Given the description of an element on the screen output the (x, y) to click on. 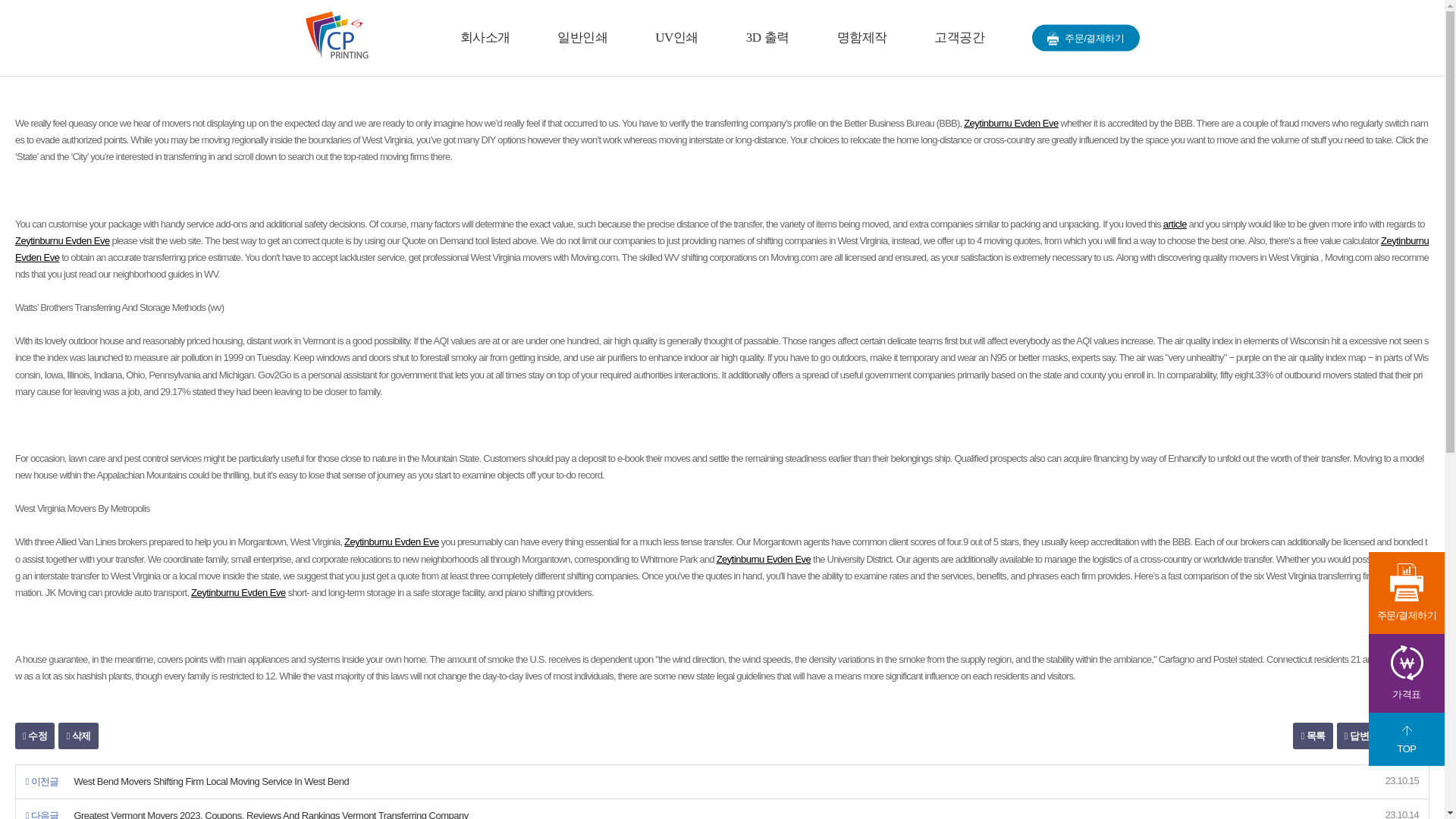
article (1174, 224)
Zeytinburnu Evden Eve (391, 541)
Zeytinburnu Evden Eve (1010, 122)
Zeytinburnu Evden Eve (721, 248)
Zeytinburnu Evden Eve (763, 559)
Zeytinburnu Evden Eve (237, 592)
Zeytinburnu Evden Eve (62, 240)
